Given the description of an element on the screen output the (x, y) to click on. 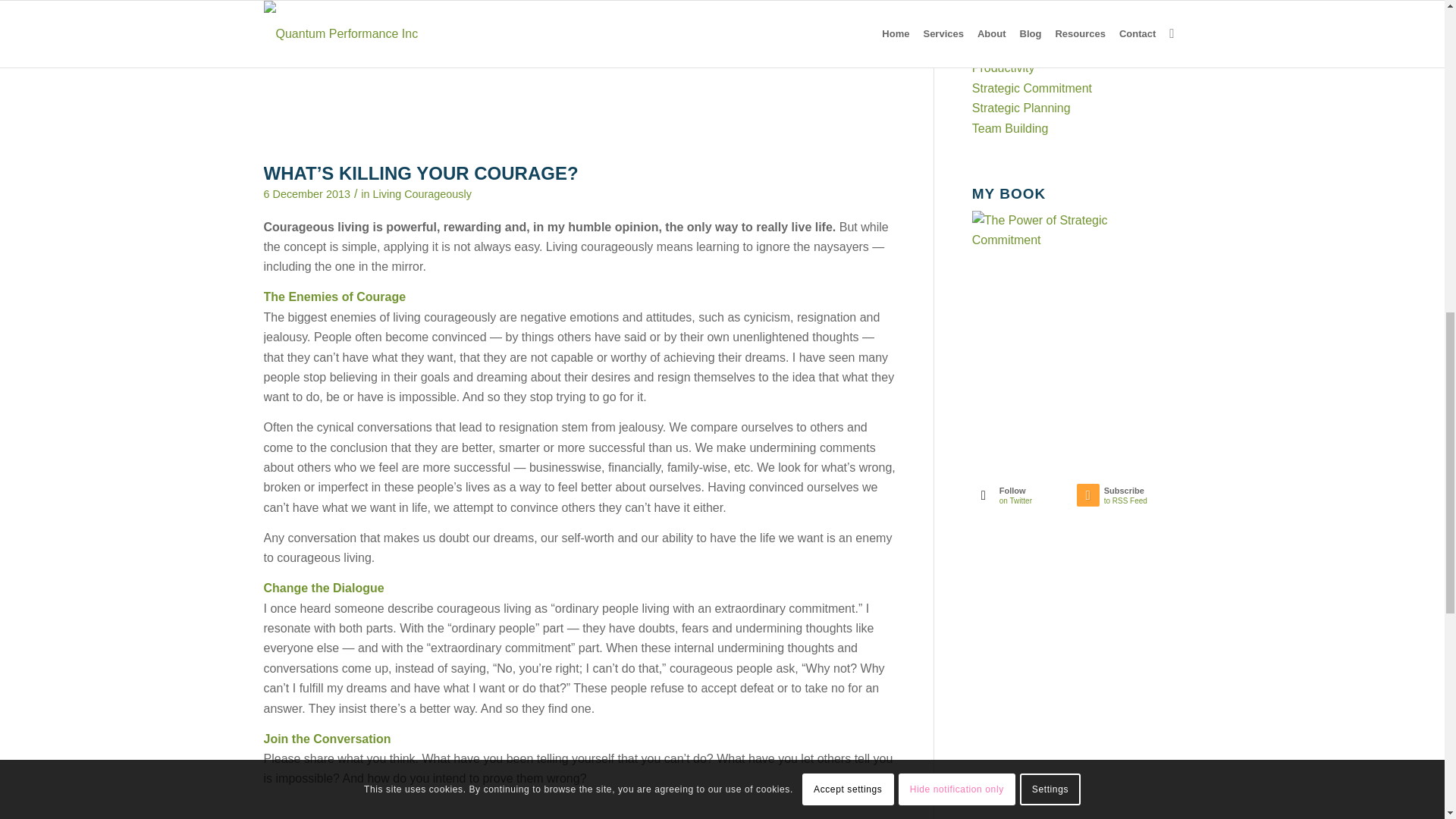
MY BOOK (1048, 239)
Living Courageously (421, 193)
Living Courageously (1026, 28)
Leadership Development (1039, 7)
Organizational Culture (1032, 47)
